Given the description of an element on the screen output the (x, y) to click on. 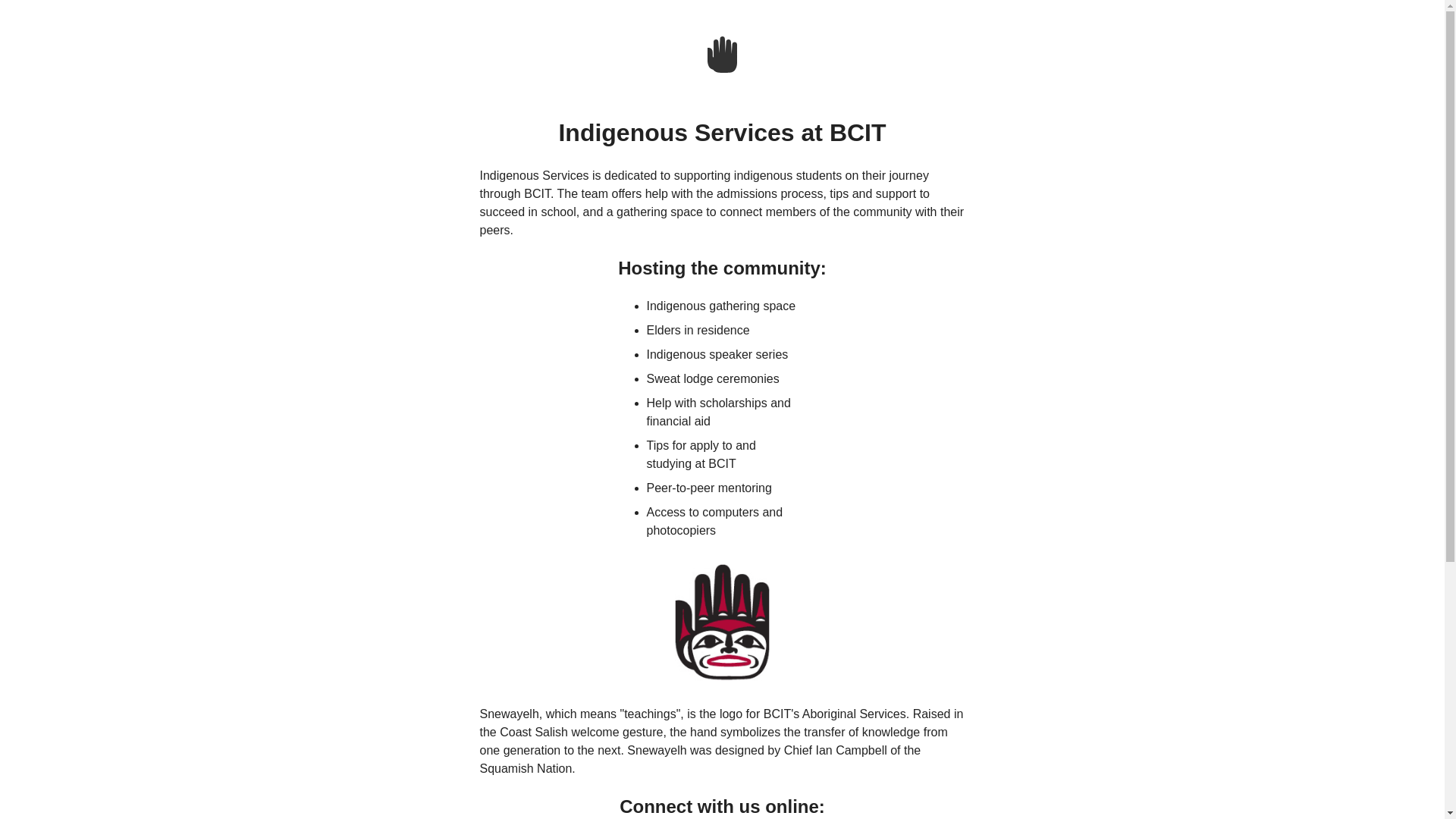
BCIT House Post Element type: text (721, 54)
